Given the description of an element on the screen output the (x, y) to click on. 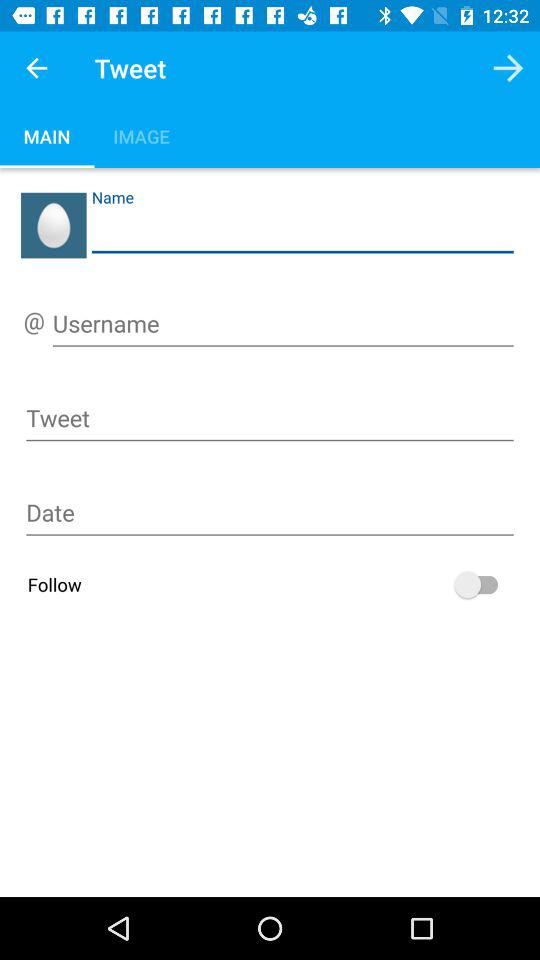
write your tweet (270, 421)
